Given the description of an element on the screen output the (x, y) to click on. 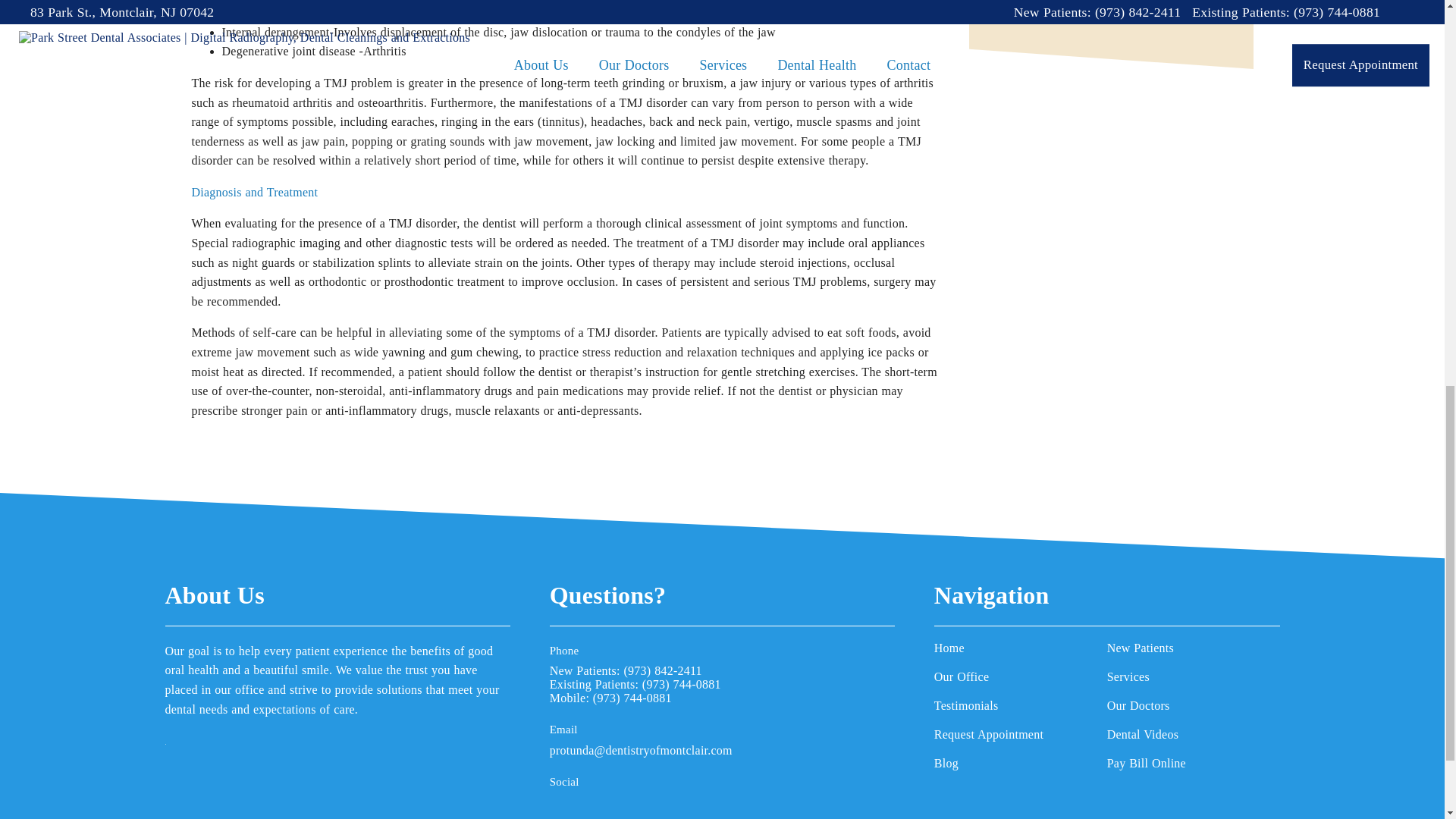
Request Appointment (1020, 735)
Our Doctors (1192, 705)
Home (1020, 648)
Services (1192, 676)
Testimonials (1020, 705)
New Patients (1192, 648)
Our Office (1020, 676)
